Given the description of an element on the screen output the (x, y) to click on. 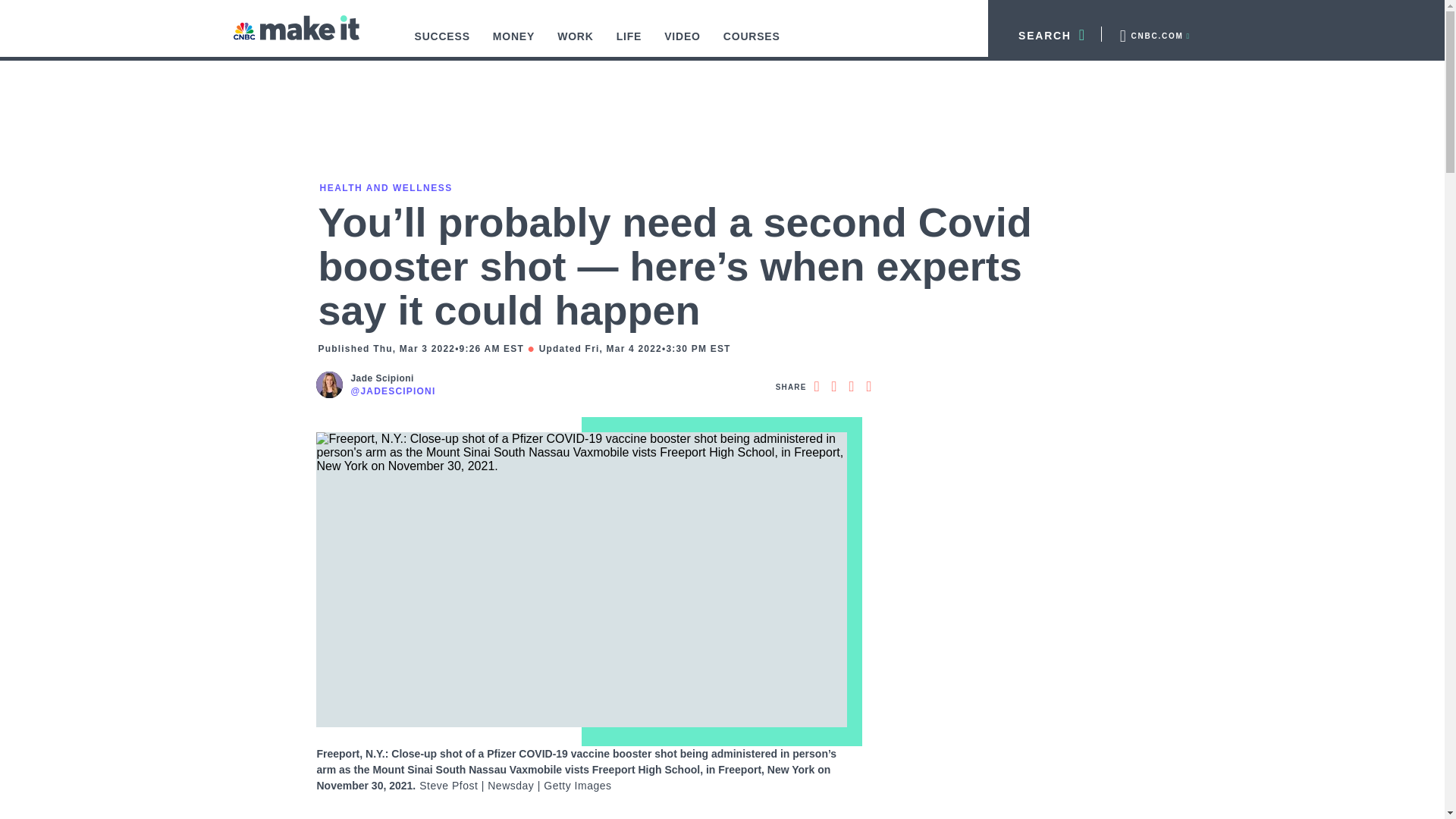
COURSES (751, 44)
MONEY (513, 44)
SUCCESS (442, 44)
SEARCH (1045, 33)
LIFE (629, 44)
VIDEO (681, 44)
HEALTH AND WELLNESS (384, 187)
Share Article via Facebook (816, 386)
CNBC.COM (1153, 33)
Jade Scipioni (392, 378)
